Given the description of an element on the screen output the (x, y) to click on. 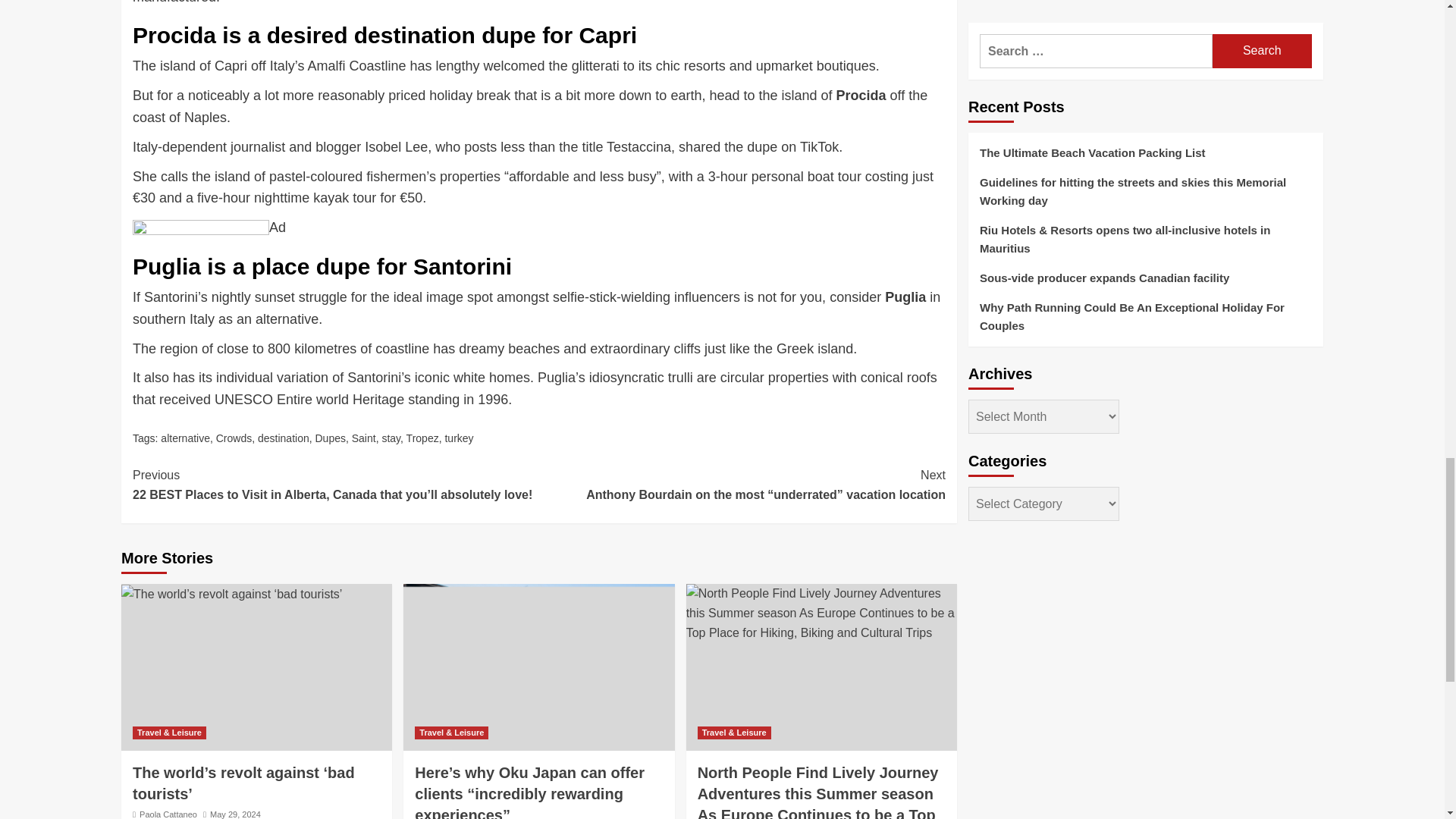
Crowds (233, 438)
Tropez (422, 438)
Dupes (329, 438)
Saint (363, 438)
stay (390, 438)
turkey (458, 438)
alternative (184, 438)
destination (282, 438)
